Given the description of an element on the screen output the (x, y) to click on. 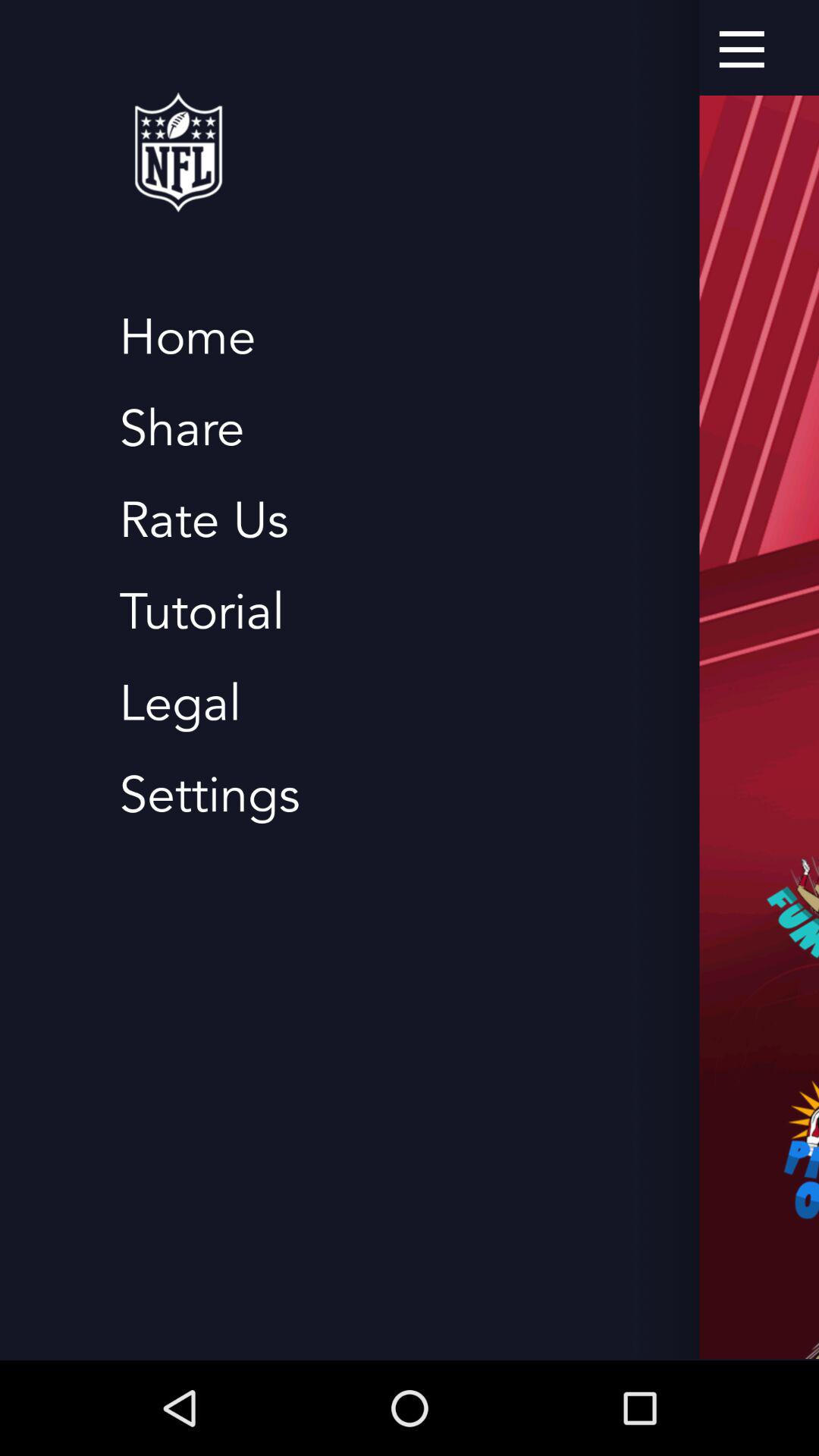
launch legal item (180, 703)
